Given the description of an element on the screen output the (x, y) to click on. 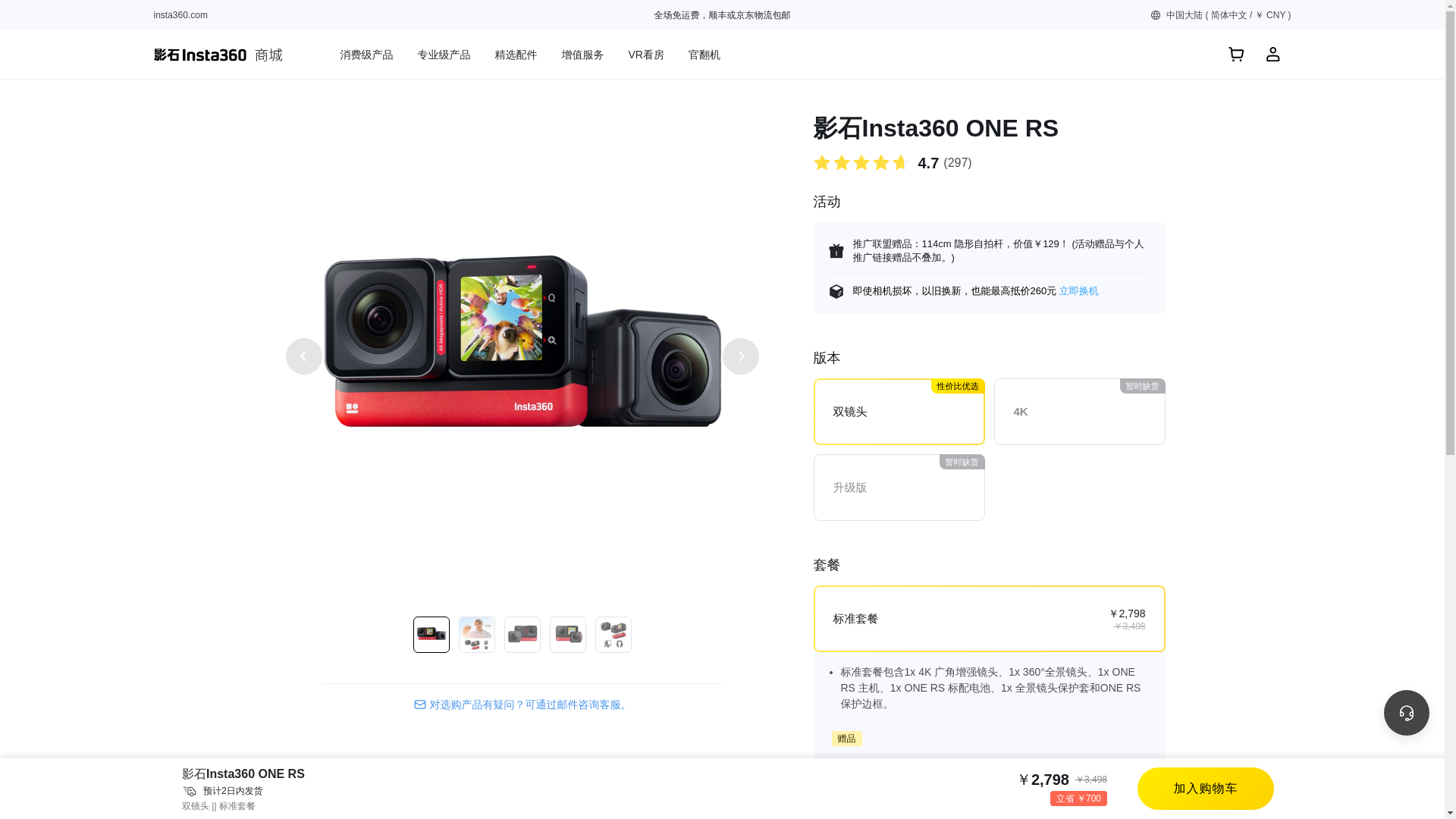
insta360.com (179, 15)
